Given the description of an element on the screen output the (x, y) to click on. 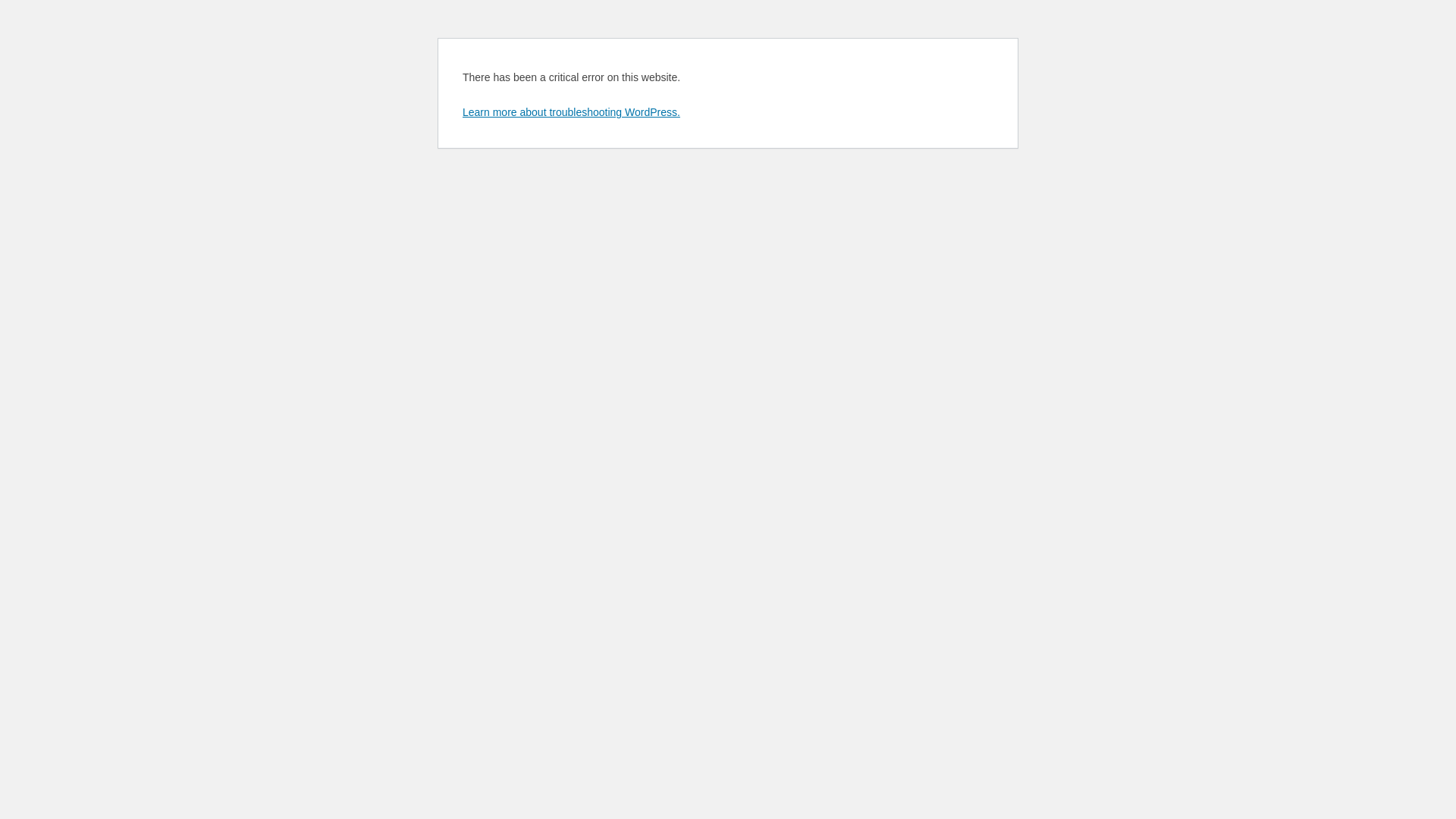
Learn more about troubleshooting WordPress. Element type: text (571, 112)
